Given the description of an element on the screen output the (x, y) to click on. 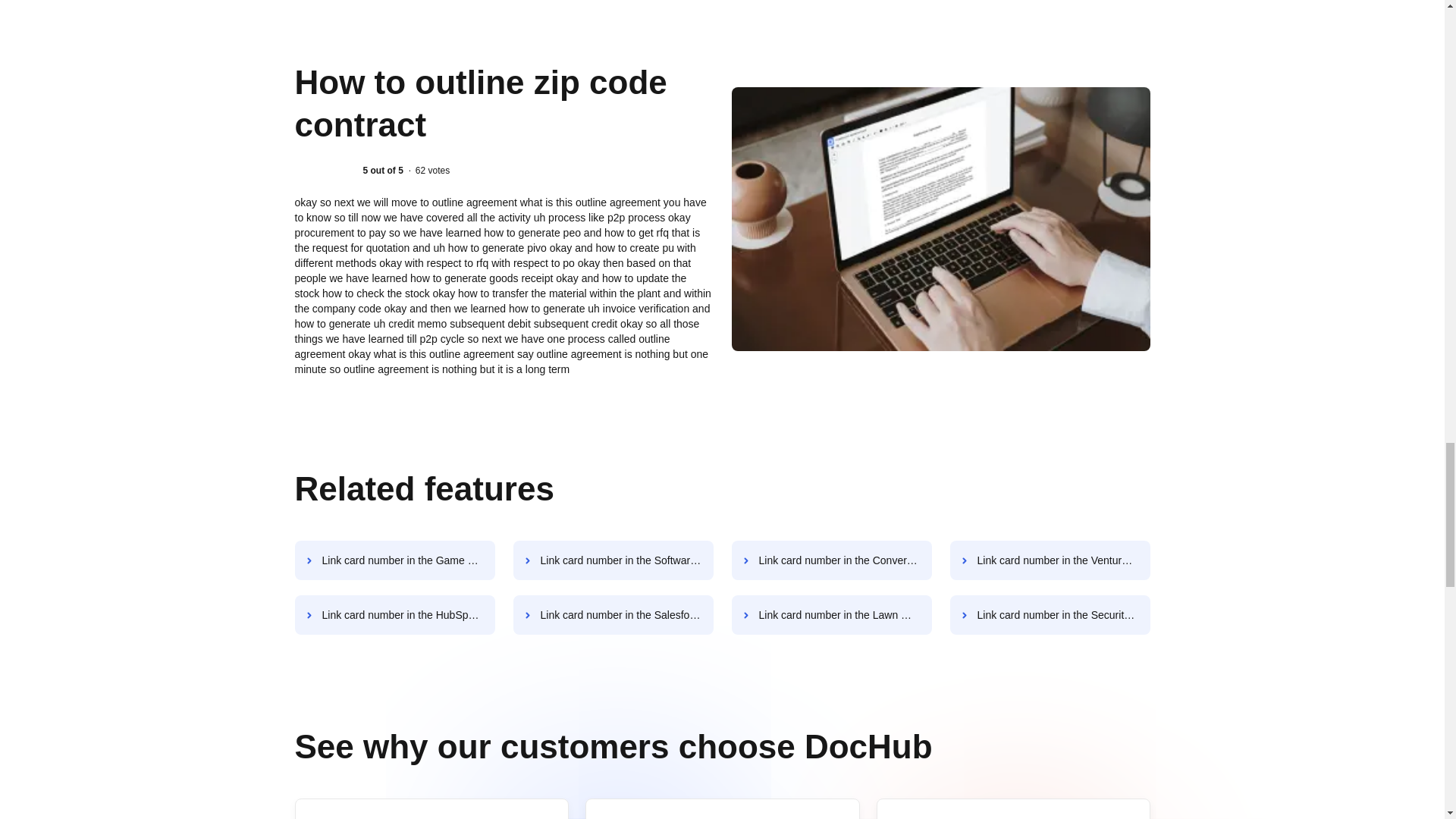
Link card number in the Game Development Proposal Template (394, 559)
Link card number in the HubSpot Proposal Template (394, 614)
Link card number in the Salesforce Proposal Template (612, 614)
Link card number in the Lawn Maintenance Proposal Template (830, 614)
Link card number in the Security Proposal Template (1049, 614)
Link card number in the Software Sales Proposal Template (612, 559)
Link card number in the Venture Capital Proposal Template (1049, 559)
